Given the description of an element on the screen output the (x, y) to click on. 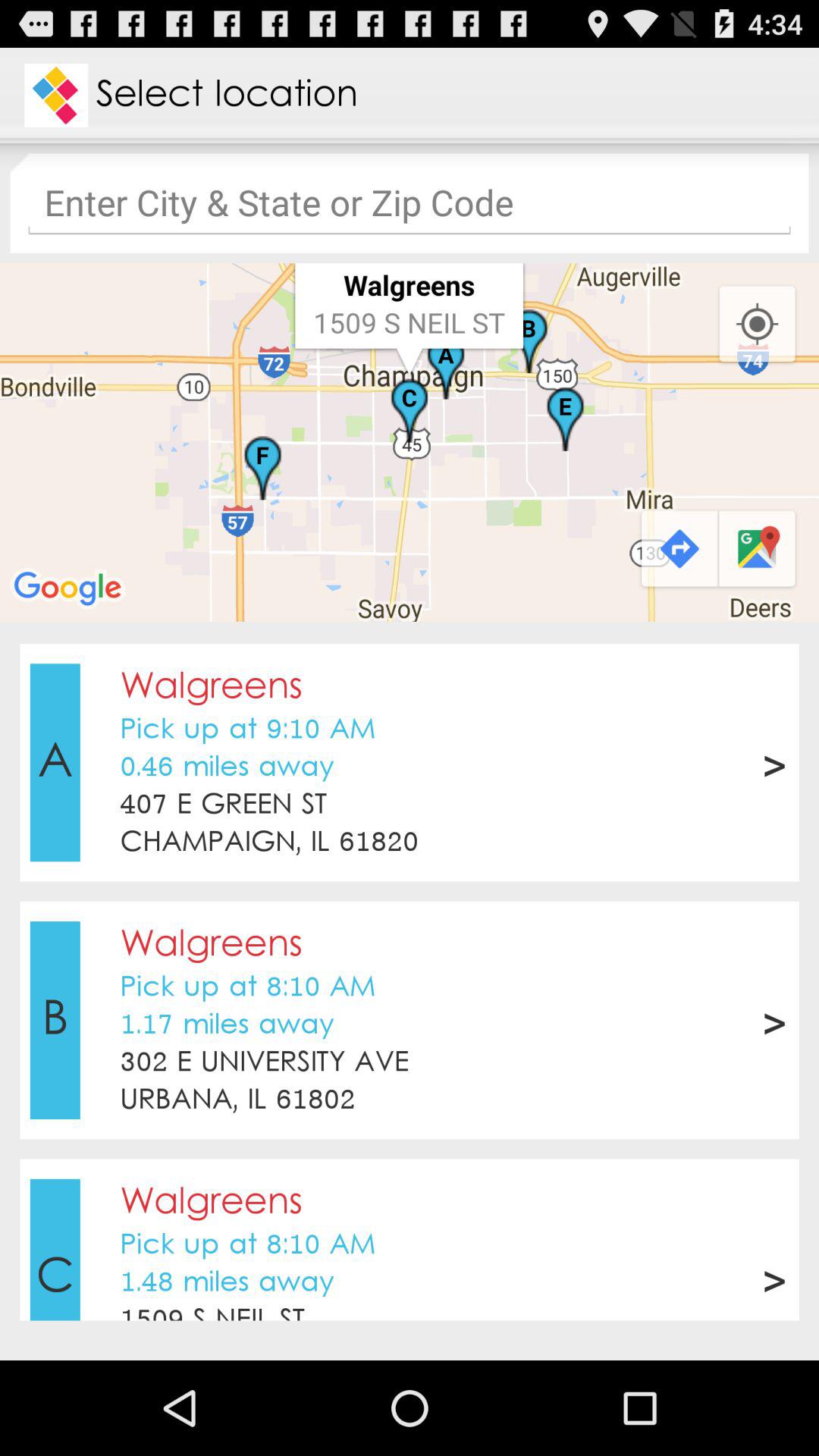
launch the app next to pick up at icon (773, 1277)
